Given the description of an element on the screen output the (x, y) to click on. 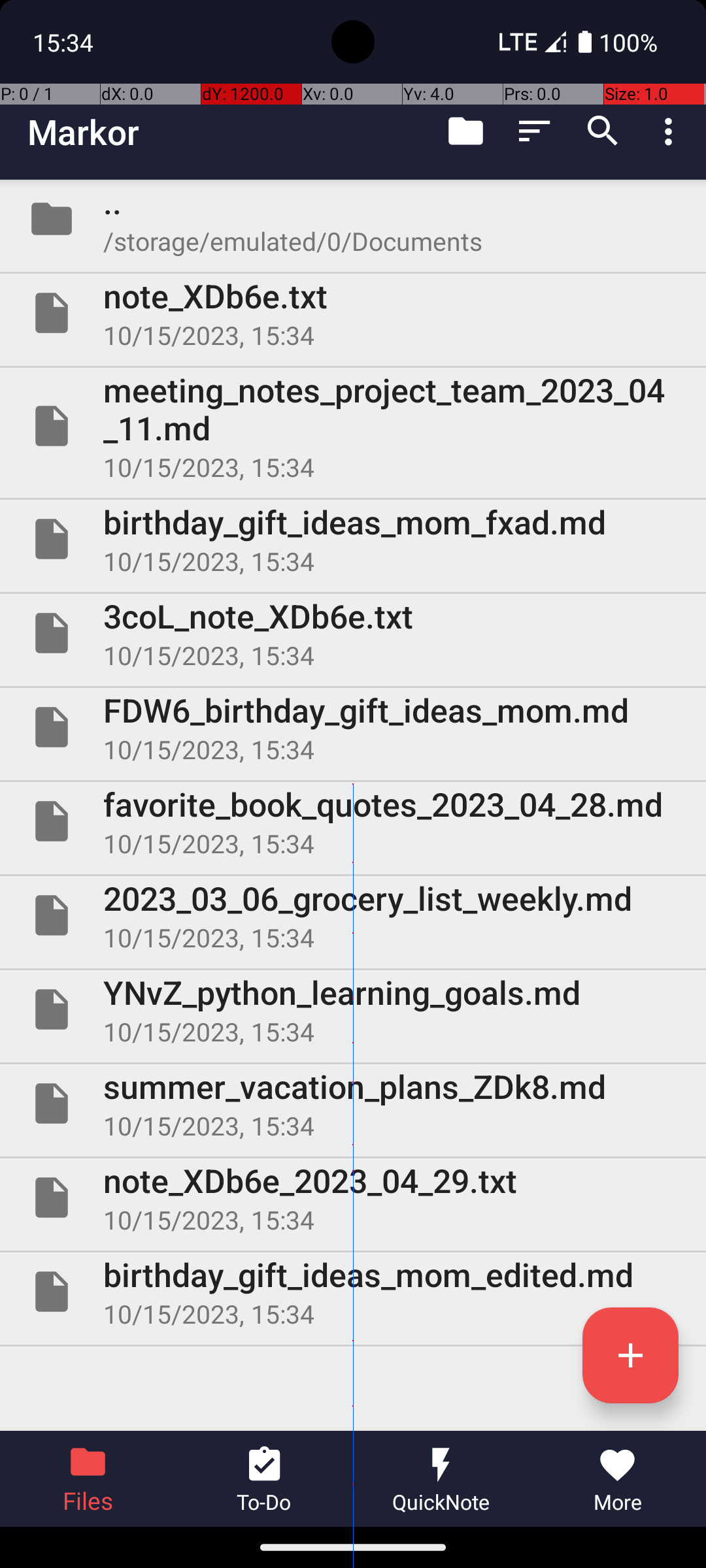
File note_XDb6e.txt  Element type: android.widget.LinearLayout (353, 312)
File meeting_notes_project_team_2023_04_11.md  Element type: android.widget.LinearLayout (353, 425)
File birthday_gift_ideas_mom_fxad.md  Element type: android.widget.LinearLayout (353, 538)
File 3coL_note_XDb6e.txt  Element type: android.widget.LinearLayout (353, 632)
File FDW6_birthday_gift_ideas_mom.md  Element type: android.widget.LinearLayout (353, 726)
File favorite_book_quotes_2023_04_28.md  Element type: android.widget.LinearLayout (353, 821)
File 2023_03_06_grocery_list_weekly.md  Element type: android.widget.LinearLayout (353, 915)
File YNvZ_python_learning_goals.md  Element type: android.widget.LinearLayout (353, 1009)
File summer_vacation_plans_ZDk8.md  Element type: android.widget.LinearLayout (353, 1103)
File note_XDb6e_2023_04_29.txt  Element type: android.widget.LinearLayout (353, 1197)
File birthday_gift_ideas_mom_edited.md  Element type: android.widget.LinearLayout (353, 1291)
